Given the description of an element on the screen output the (x, y) to click on. 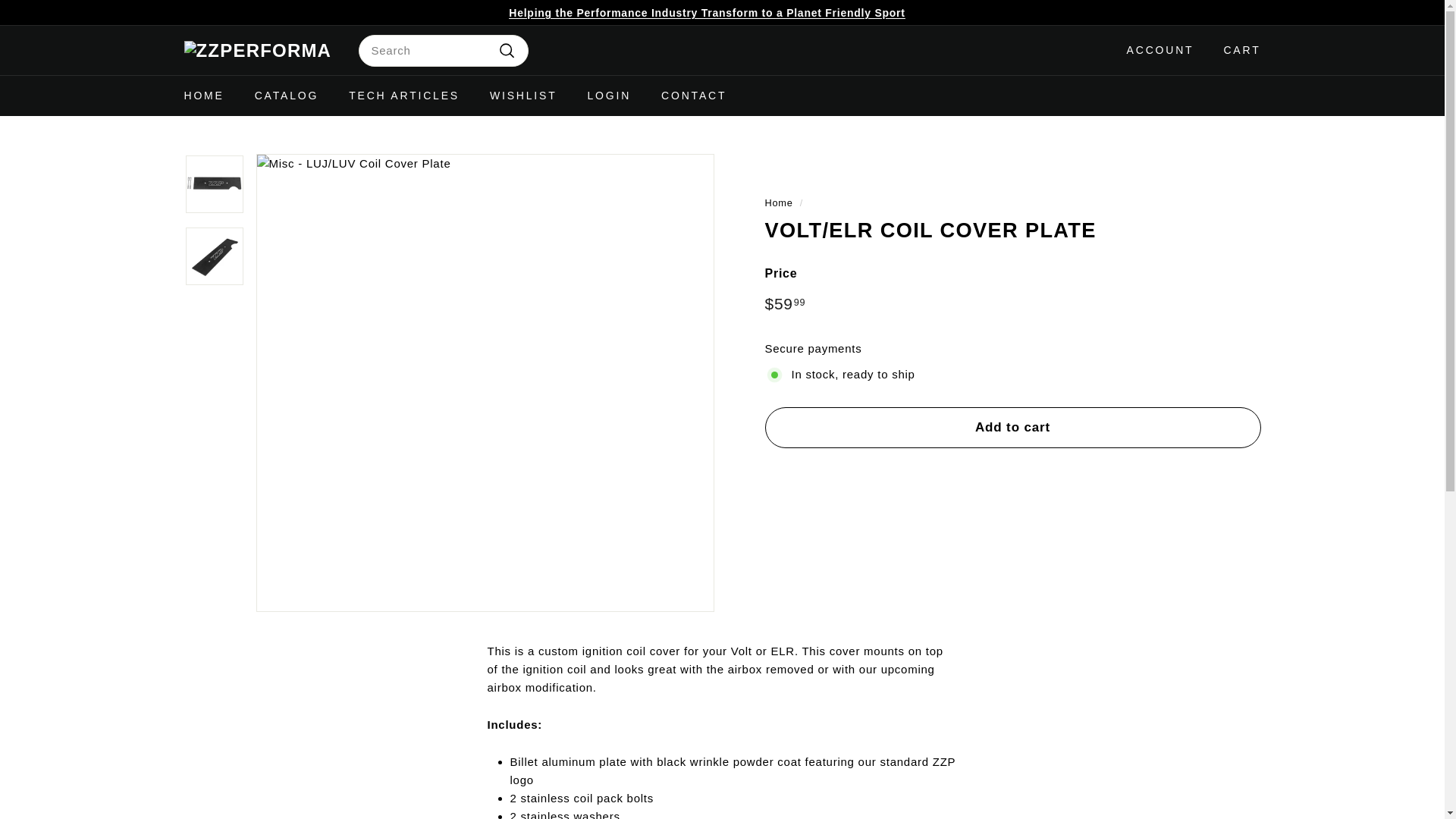
ZZPerformance on Facebook (1248, 12)
Facebook (1248, 12)
ACCOUNT (1155, 49)
ZZPerformance on Instagram (1240, 12)
Back to the frontpage (778, 202)
HOME (203, 95)
CART (1235, 49)
ZZPerformance on YouTube (1256, 12)
YouTube (1256, 12)
Instagram (1240, 12)
